Given the description of an element on the screen output the (x, y) to click on. 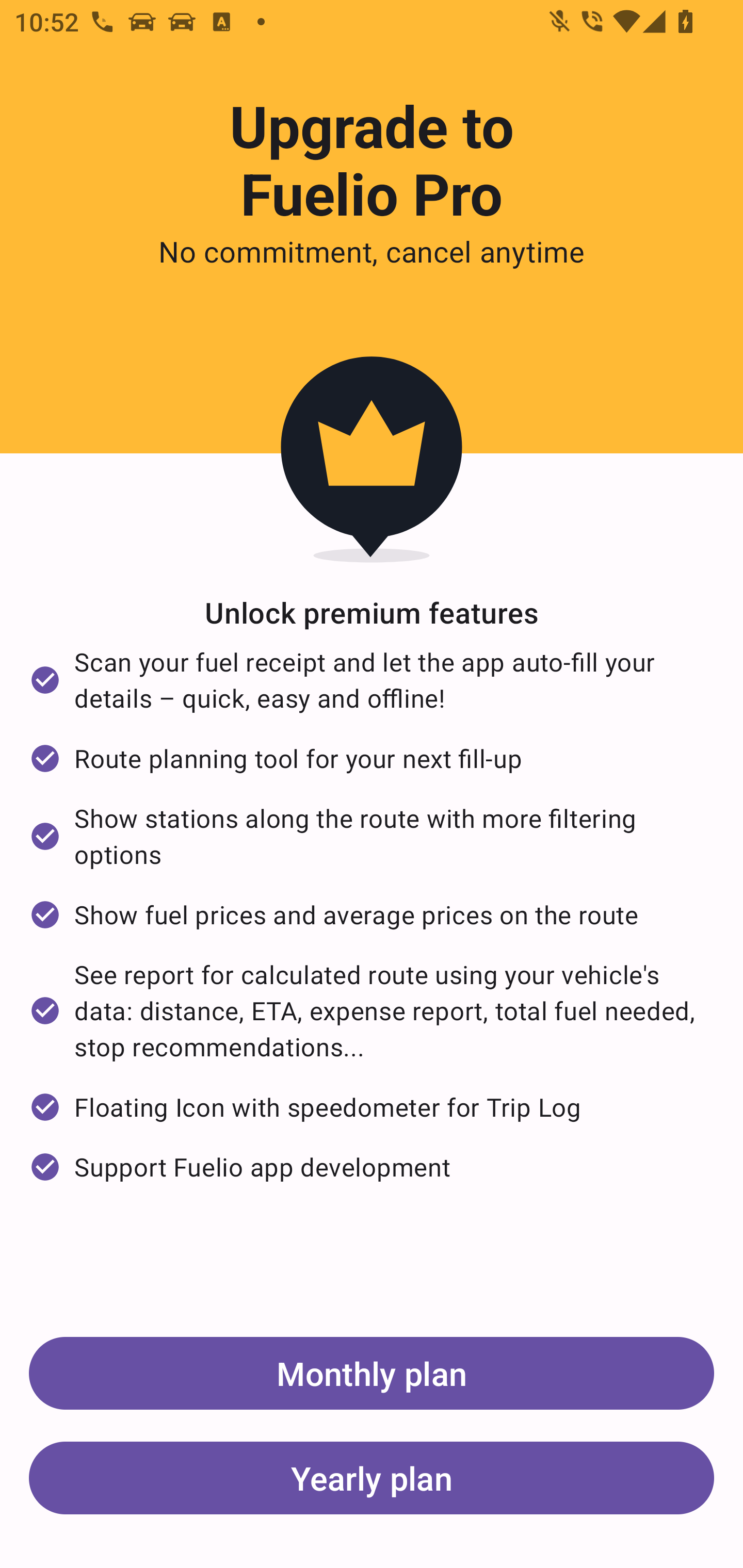
Monthly plan (371, 1373)
Yearly plan (371, 1477)
